Given the description of an element on the screen output the (x, y) to click on. 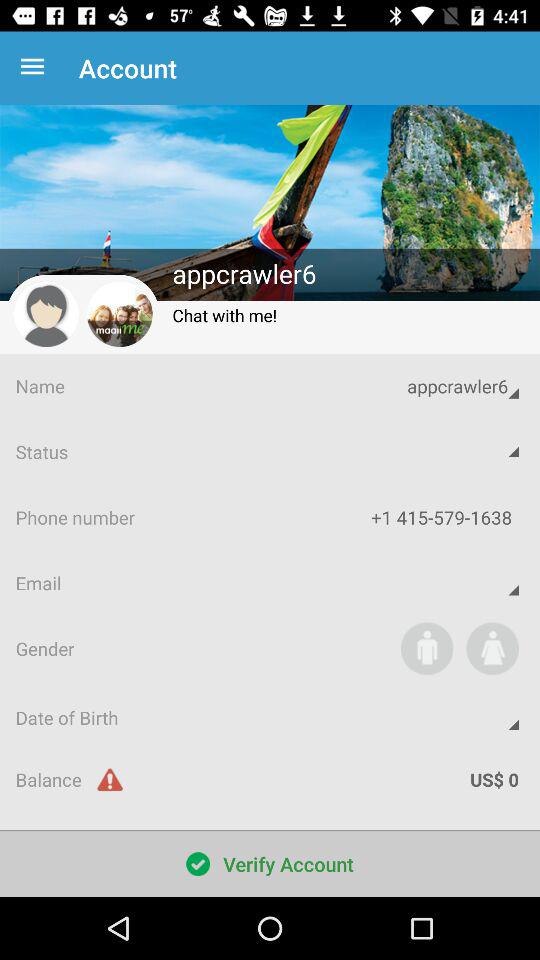
launch the verify account item (270, 863)
